Given the description of an element on the screen output the (x, y) to click on. 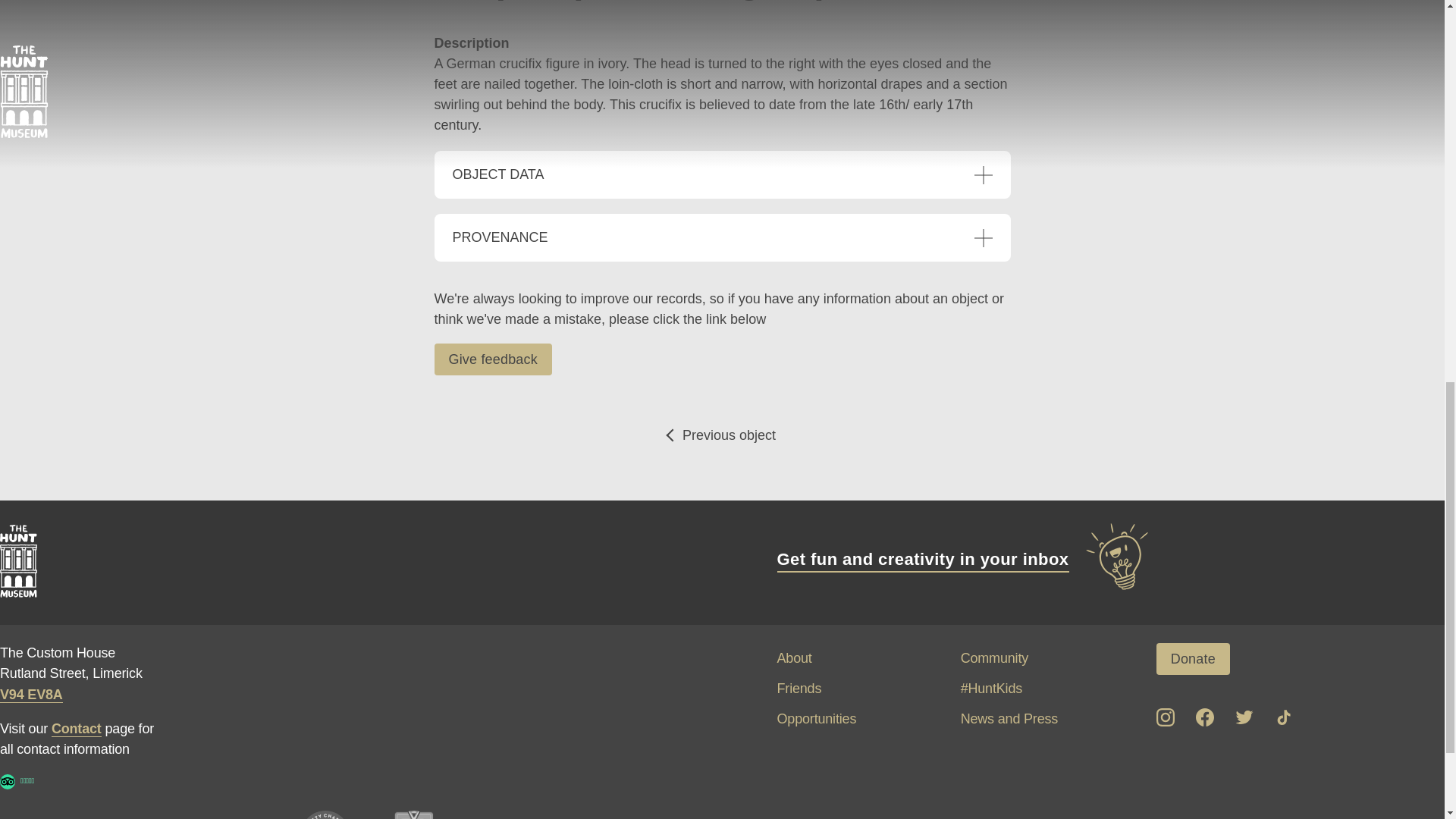
Read reviews on Tripadvisor  (7, 781)
Community (993, 658)
Give feedback (492, 359)
V94 EV8A (31, 694)
About (793, 658)
Previous object (722, 435)
Get fun and creativity in your inbox (963, 559)
Donate (1193, 658)
Contact (75, 729)
News and Press (1009, 718)
Friends (798, 688)
Opportunities (816, 718)
